Given the description of an element on the screen output the (x, y) to click on. 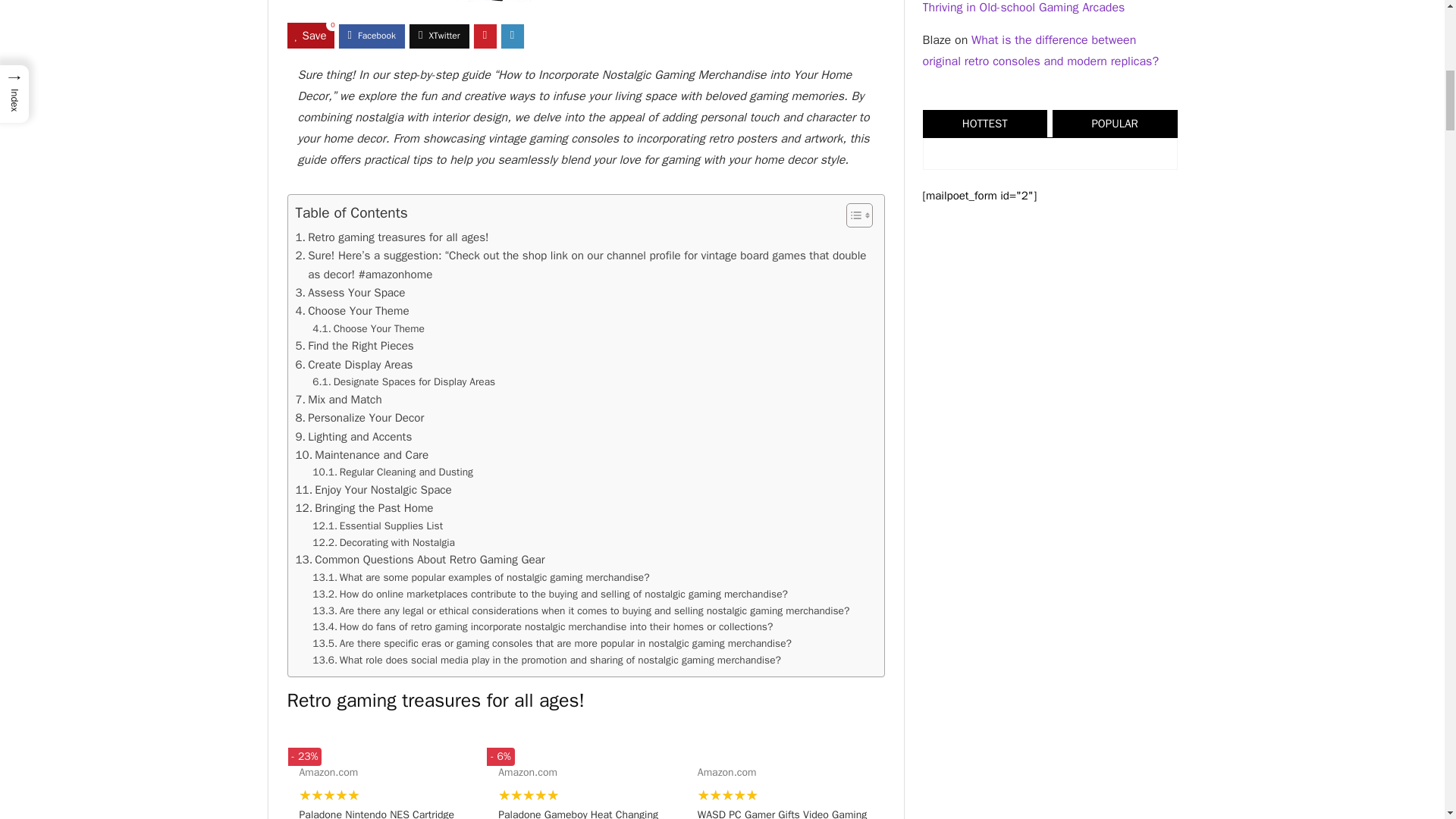
Choose Your Theme (369, 329)
Retro gaming treasures for all ages! (392, 237)
Choose Your Theme (352, 311)
Mix and Match (338, 399)
Assess Your Space (350, 292)
Retro gaming treasures for all ages! (392, 237)
Personalize Your Decor (360, 417)
Find the Right Pieces (354, 345)
Choose Your Theme (369, 329)
Find the Right Pieces (354, 345)
Create Display Areas (354, 364)
Designate Spaces for Display Areas (404, 381)
Assess Your Space (350, 292)
Choose Your Theme (352, 311)
Create Display Areas (354, 364)
